Given the description of an element on the screen output the (x, y) to click on. 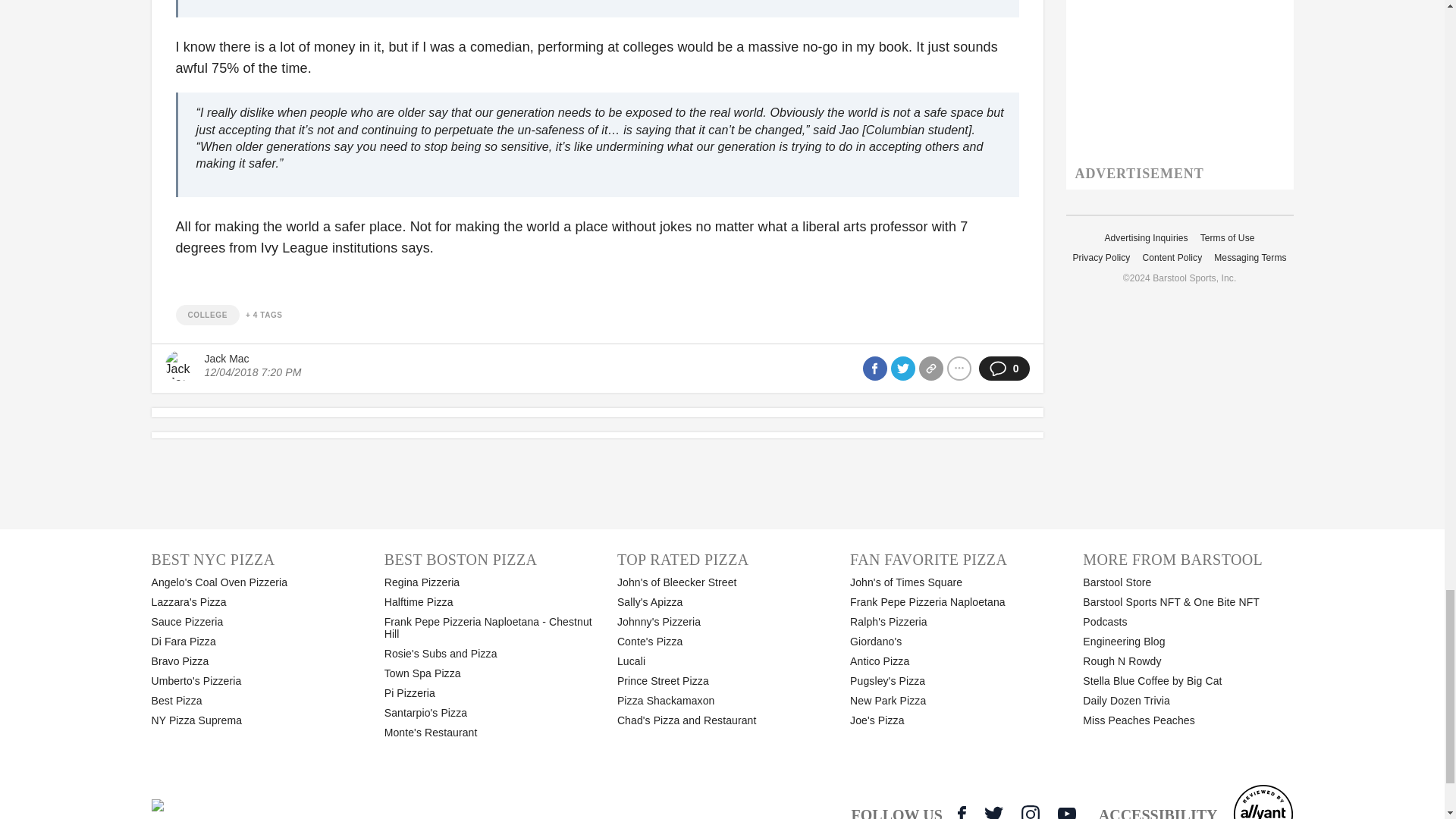
YouTube Icon (1066, 812)
Instagram Icon (1030, 812)
Twitter Icon (993, 812)
Reviewed by Allyant for accessibility (1263, 801)
